Given the description of an element on the screen output the (x, y) to click on. 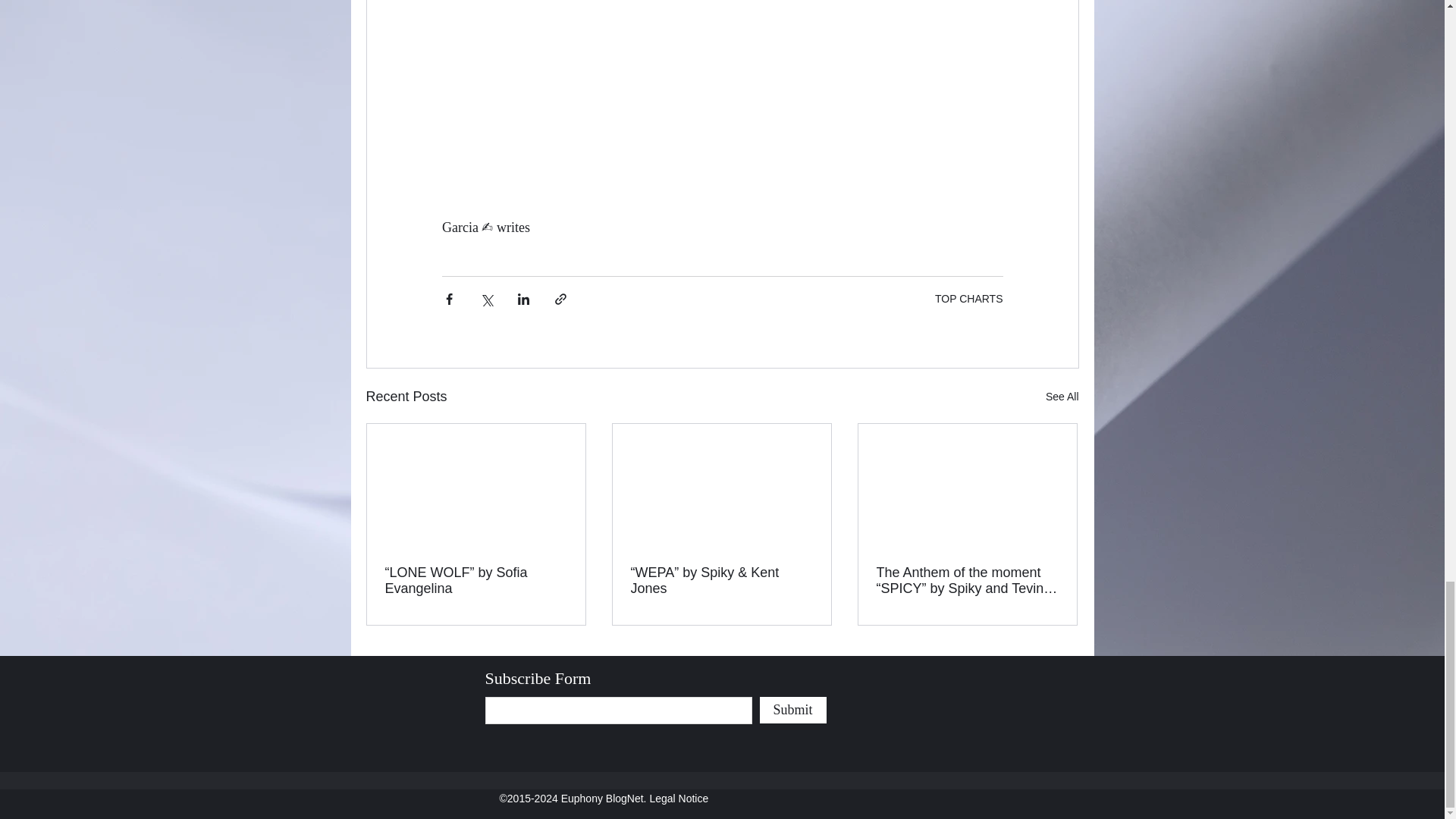
TOP CHARTS (968, 298)
Submit (793, 709)
See All (1061, 396)
